Given the description of an element on the screen output the (x, y) to click on. 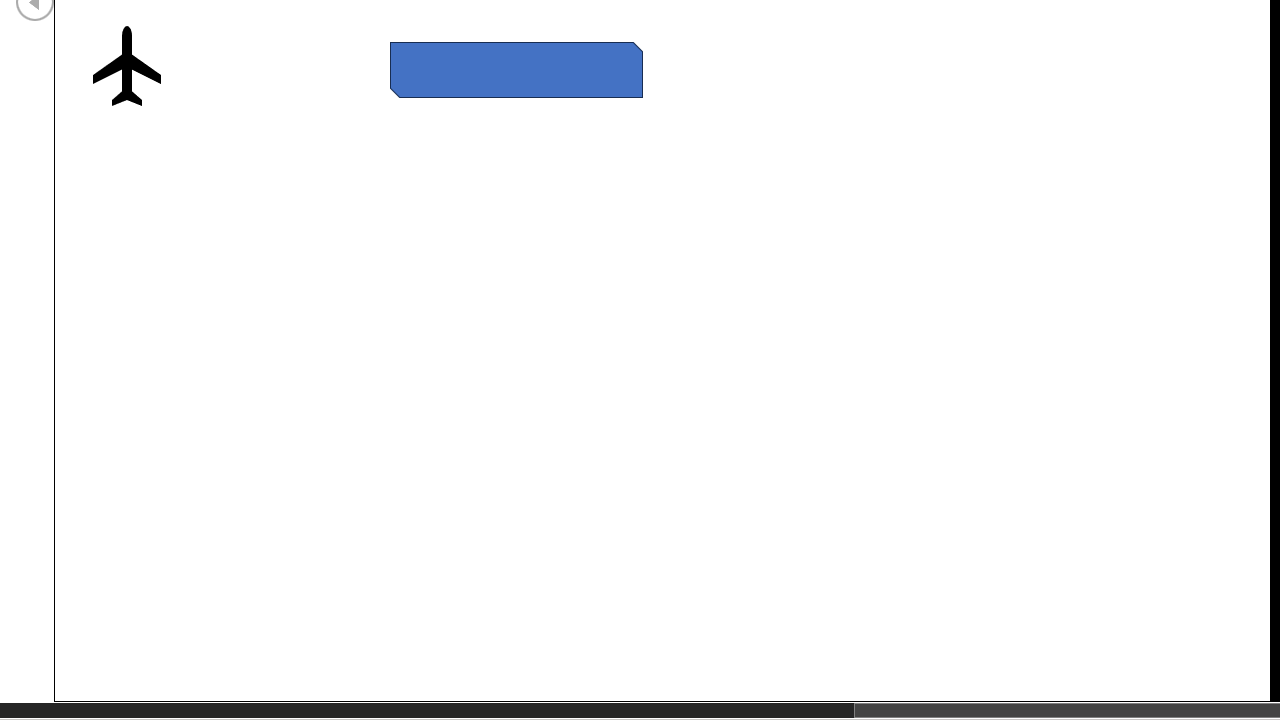
Airplane with solid fill (126, 65)
Rectangle: Diagonal Corners Snipped 2 (515, 69)
Page left (426, 710)
